Given the description of an element on the screen output the (x, y) to click on. 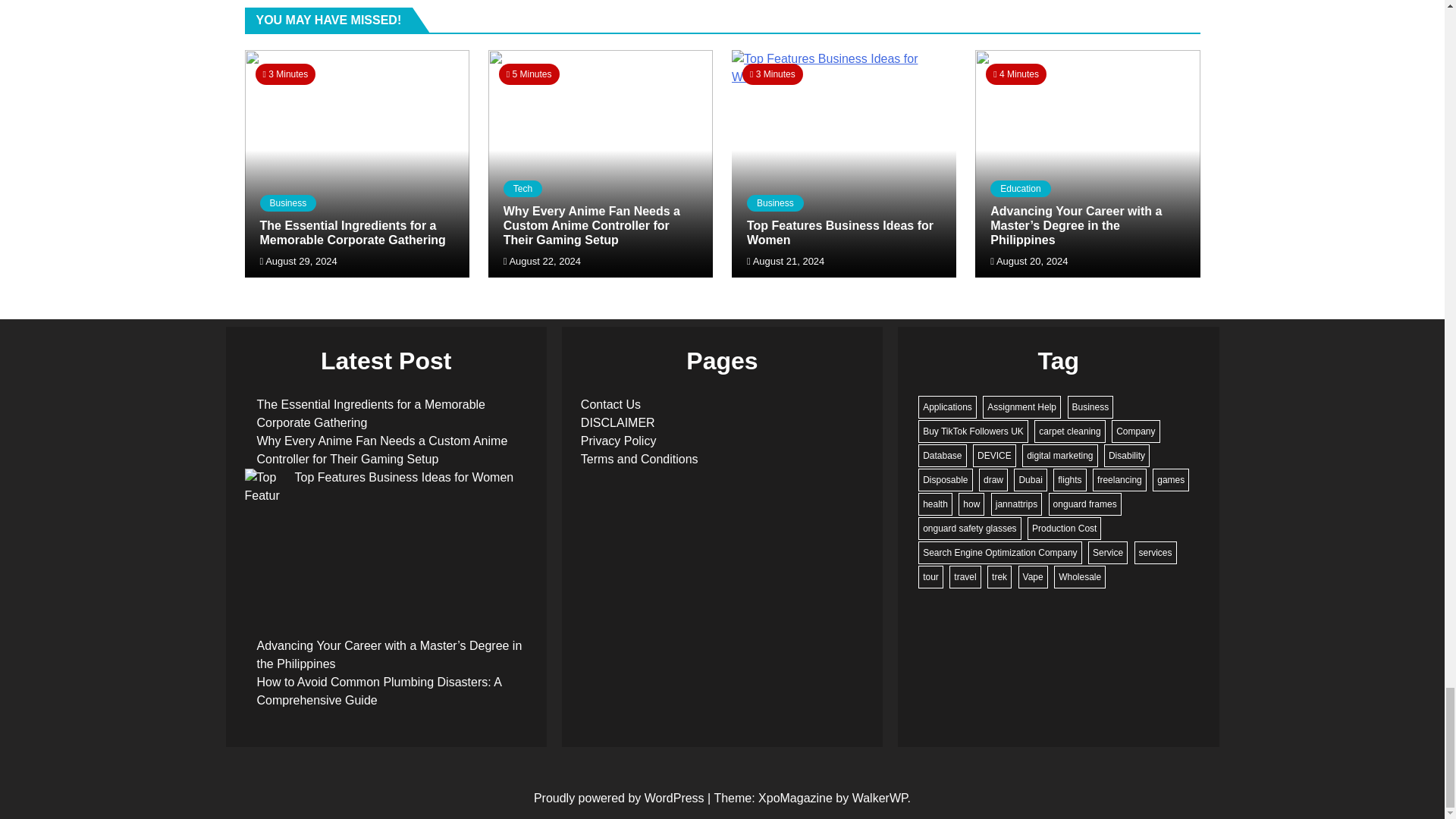
Estimated Reading Time of Article (529, 74)
Estimated Reading Time of Article (772, 74)
Estimated Reading Time of Article (1015, 74)
Estimated Reading Time of Article (284, 74)
